Given the description of an element on the screen output the (x, y) to click on. 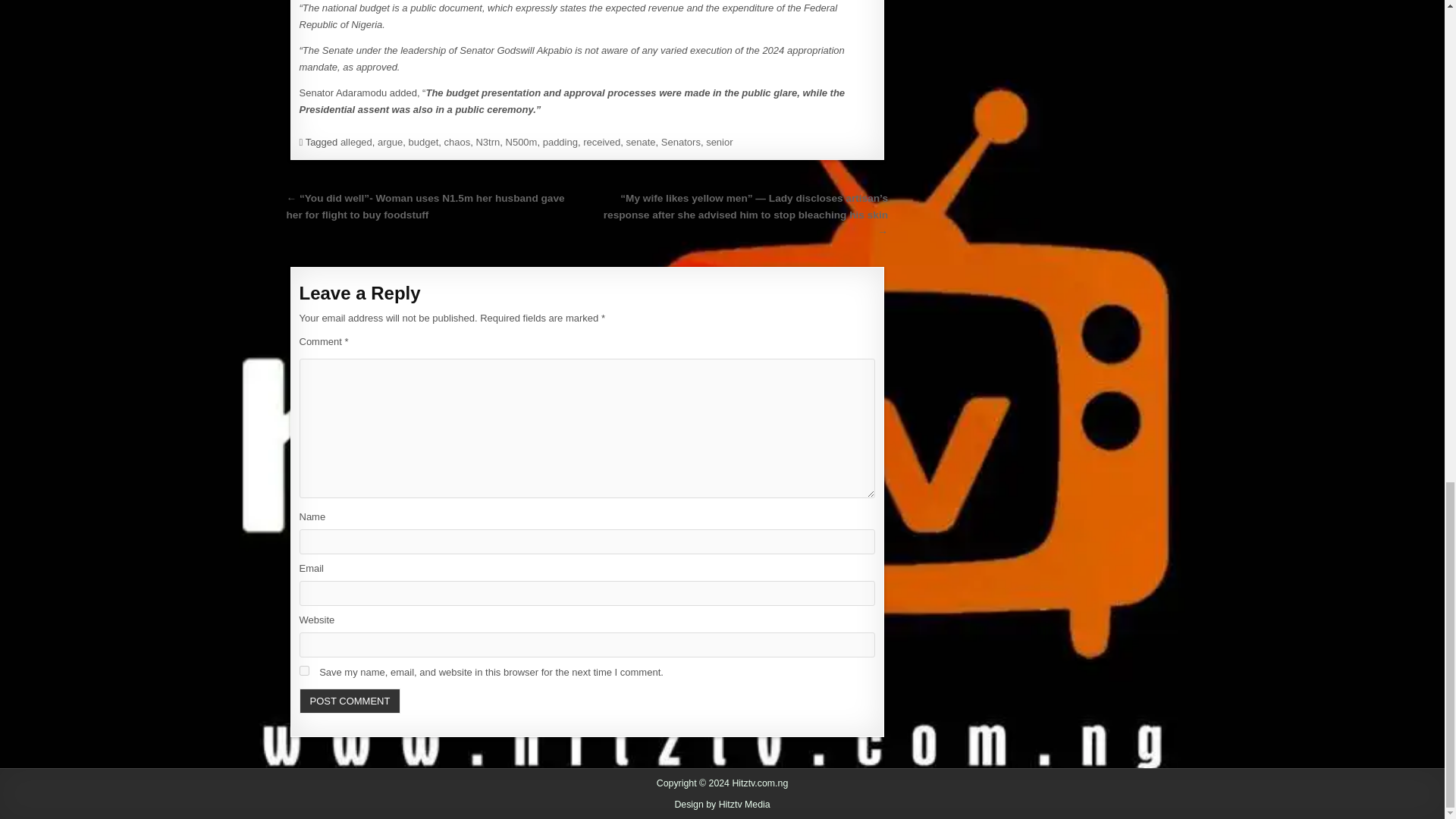
padding (560, 142)
argue (390, 142)
Post Comment (349, 699)
alleged (356, 142)
Post Comment (349, 699)
N500m (521, 142)
senior (719, 142)
N3trn (487, 142)
chaos (457, 142)
senate (641, 142)
